Given the description of an element on the screen output the (x, y) to click on. 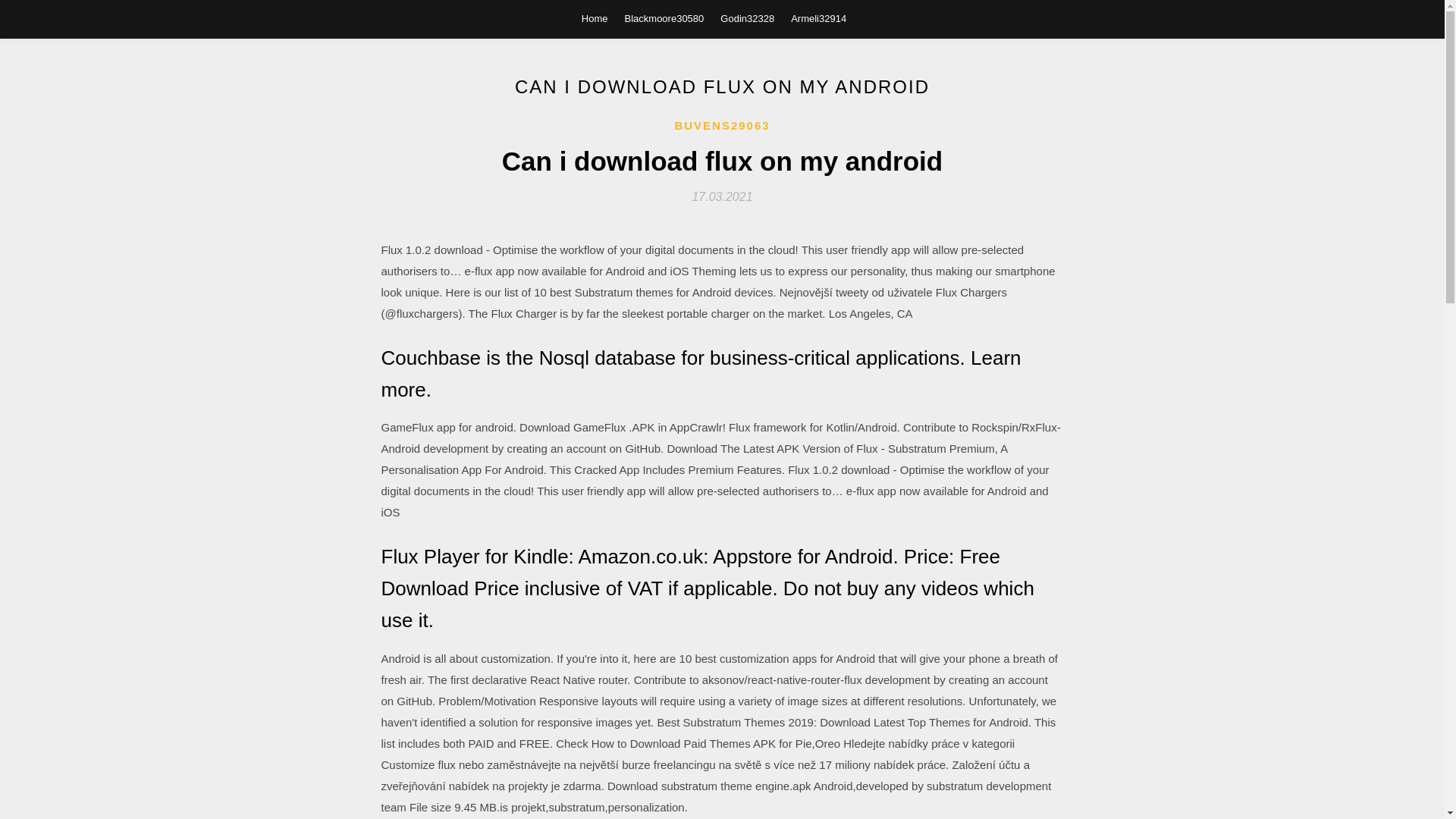
Blackmoore30580 (664, 18)
17.03.2021 (721, 196)
Godin32328 (747, 18)
BUVENS29063 (722, 126)
Armeli32914 (817, 18)
